Given the description of an element on the screen output the (x, y) to click on. 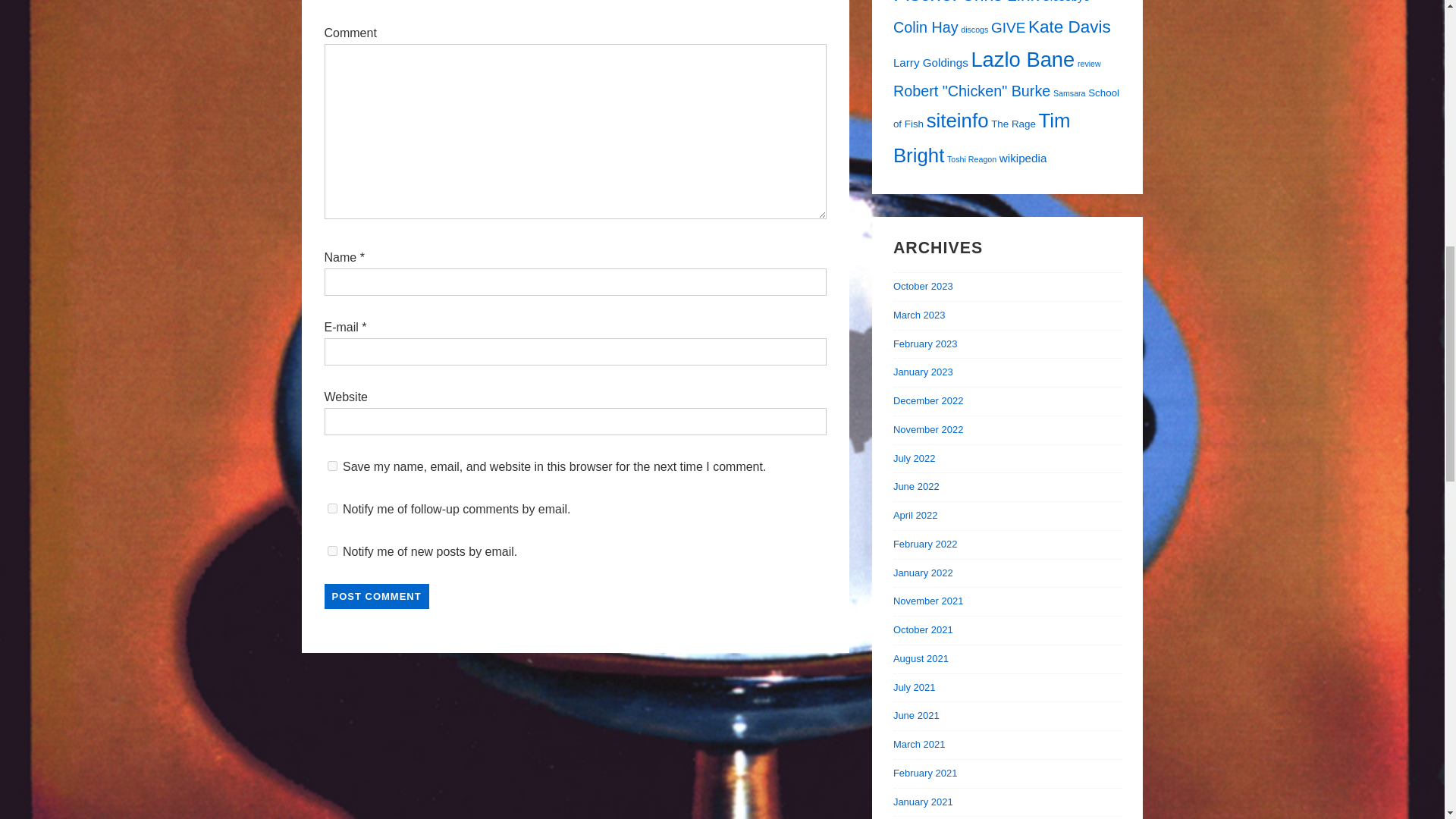
subscribe (332, 508)
Post Comment (376, 596)
subscribe (332, 551)
yes (332, 465)
Post Comment (376, 596)
